Given the description of an element on the screen output the (x, y) to click on. 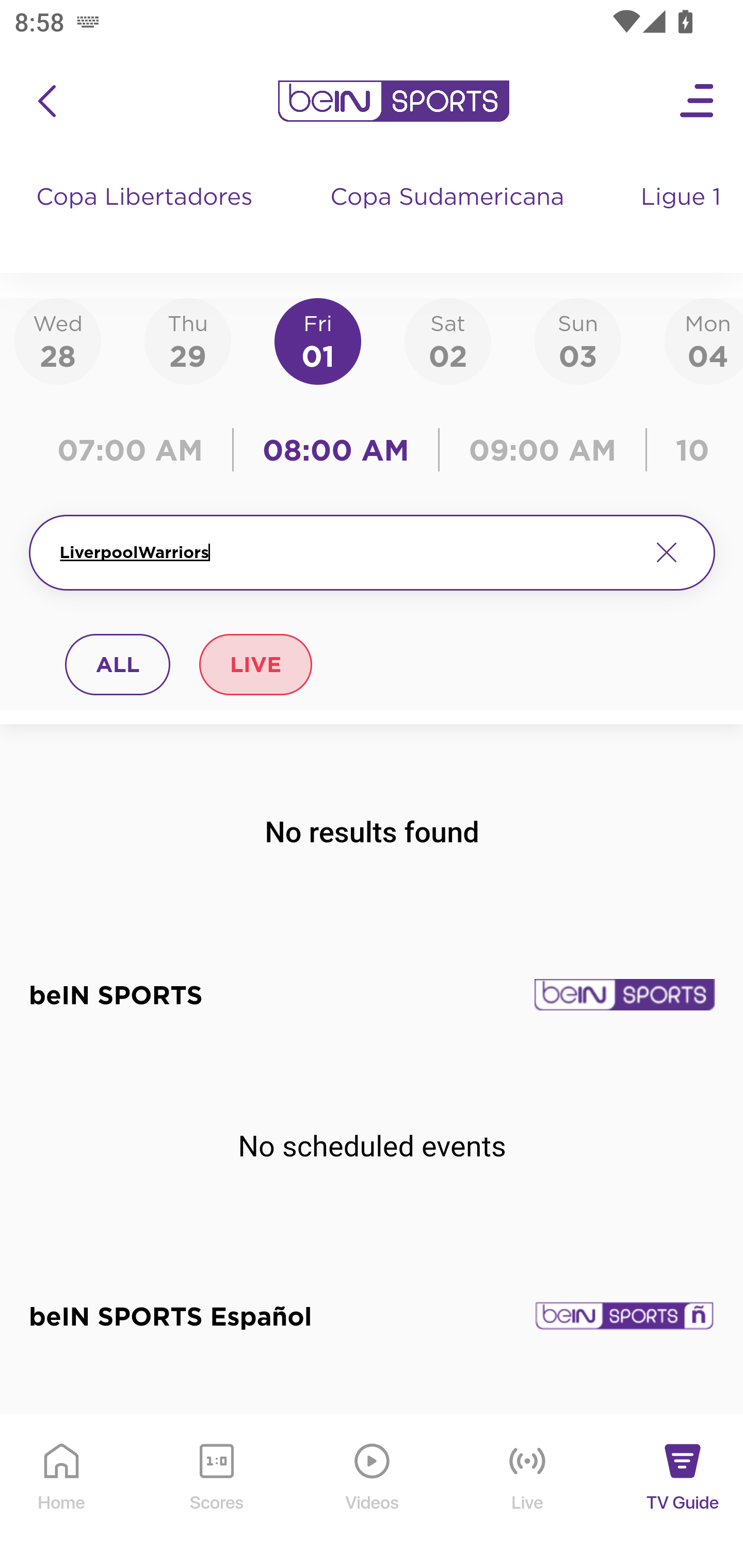
en-us?platform=mobile_android bein logo (392, 101)
icon back (46, 101)
Open Menu Icon (697, 101)
Copa Libertadores (146, 216)
Copa Sudamericana (448, 216)
Ligue 1 (682, 216)
Wed28 (58, 340)
Thu29 (187, 340)
Fri01 (318, 340)
Sat02 (447, 340)
Sun03 (578, 340)
Mon04 (703, 340)
07:00 AM (135, 449)
08:00 AM (336, 449)
09:00 AM (542, 449)
LiverpoolWarriors (346, 552)
ALL (118, 663)
LIVE (255, 663)
Home Home Icon Home (61, 1491)
Scores Scores Icon Scores (216, 1491)
Videos Videos Icon Videos (372, 1491)
TV Guide TV Guide Icon TV Guide (682, 1491)
